Given the description of an element on the screen output the (x, y) to click on. 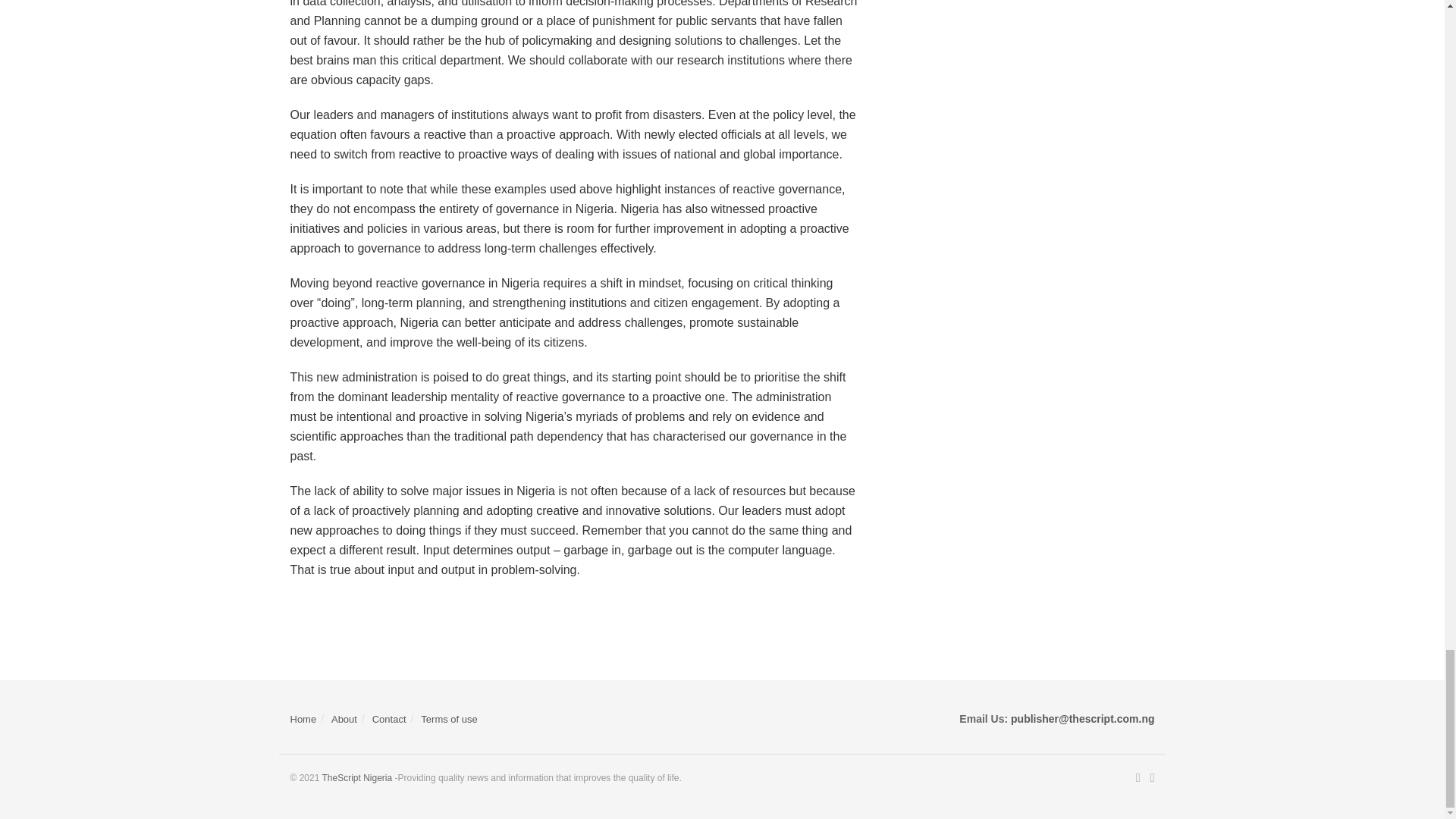
TheScript (356, 777)
